Given the description of an element on the screen output the (x, y) to click on. 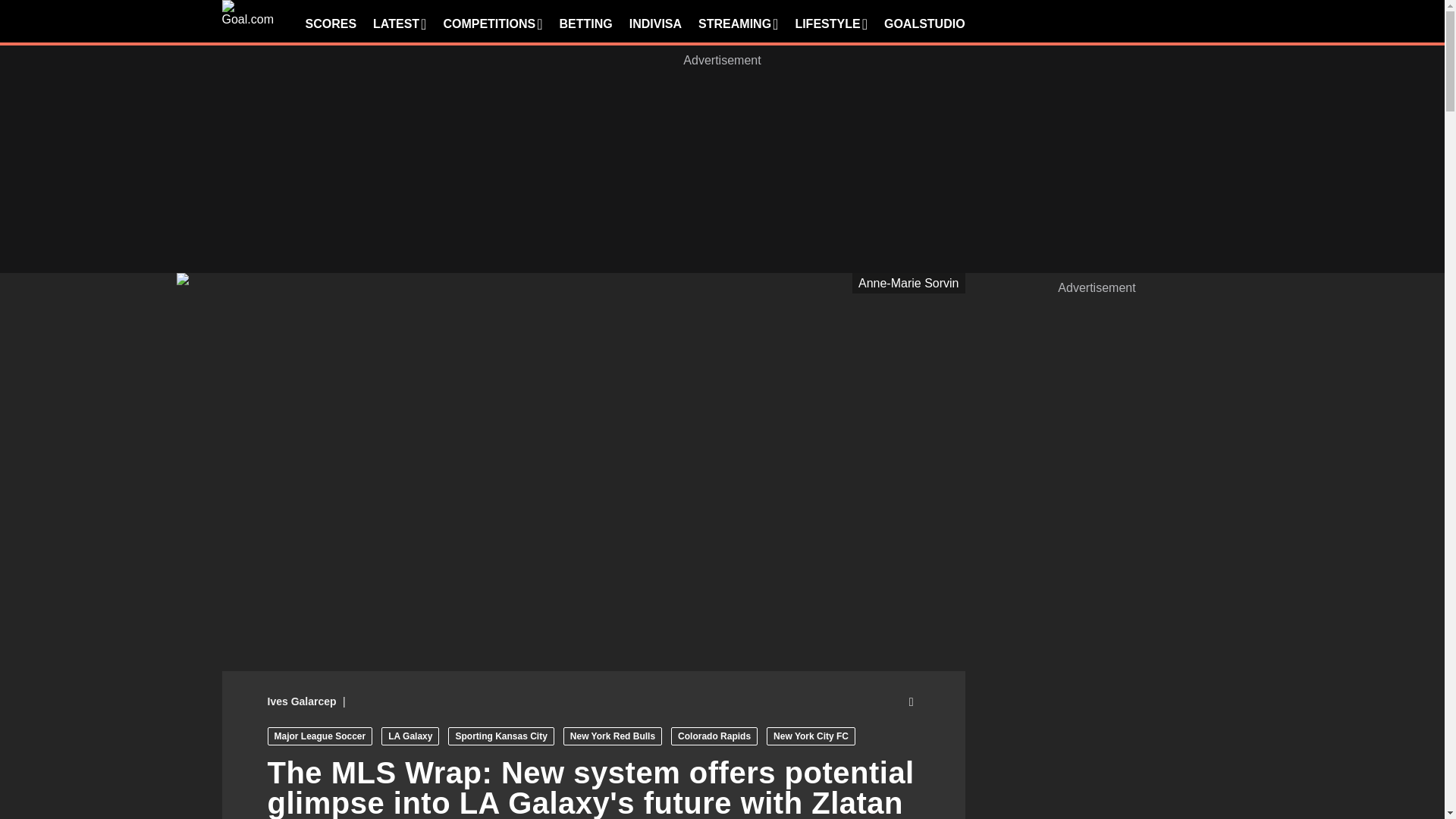
Colorado Rapids (714, 736)
SCORES (330, 23)
LA Galaxy (410, 736)
New York City FC (811, 736)
New York Red Bulls (612, 736)
Sporting Kansas City (500, 736)
Major League Soccer (319, 736)
LATEST (399, 23)
COMPETITIONS (491, 23)
